Given the description of an element on the screen output the (x, y) to click on. 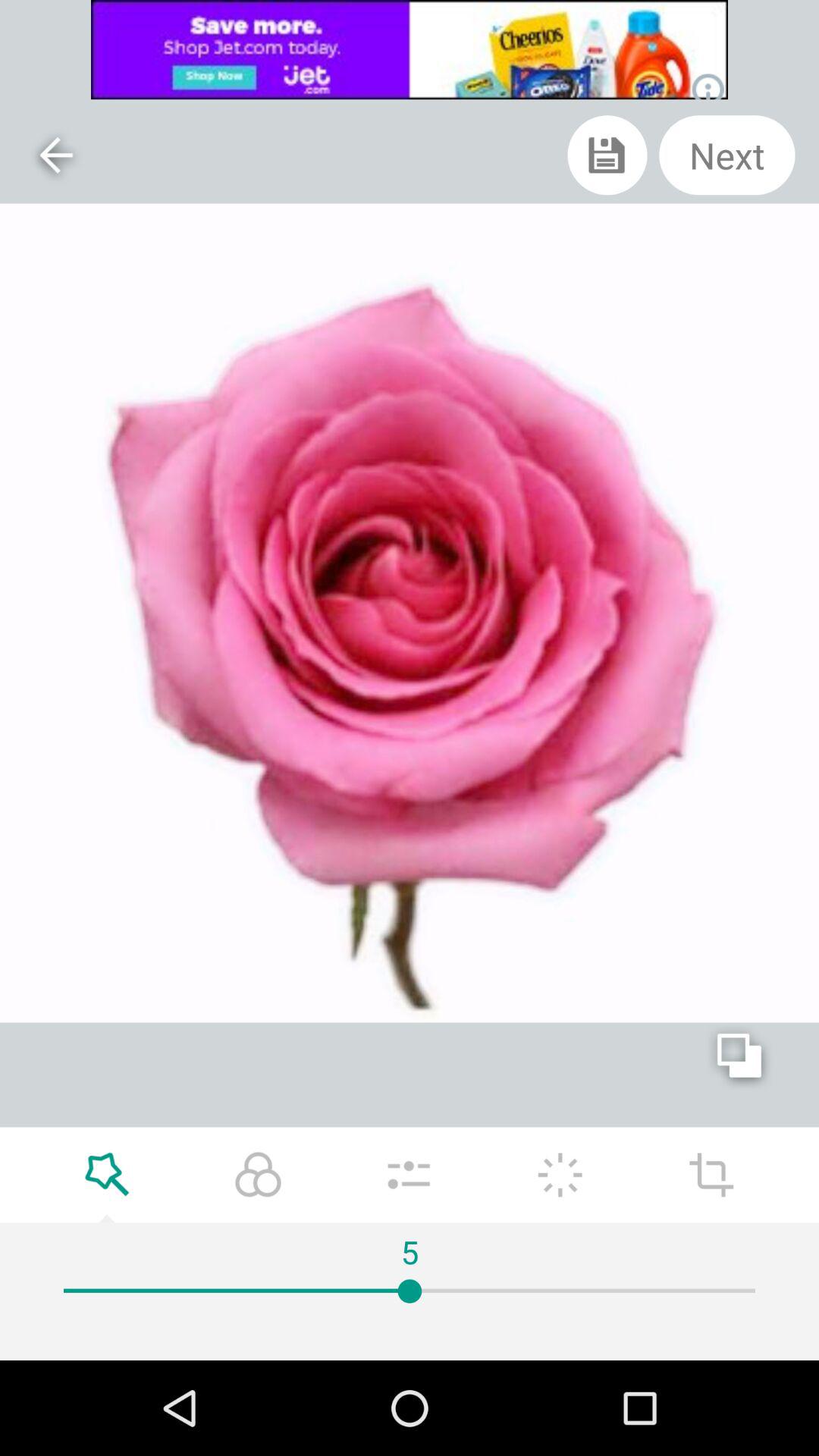
click on next shown at top right corner of the page (727, 155)
click on the third button from the bottom left corner of the page (408, 1174)
click on first button which is at bottom right corner of the page (711, 1174)
click on the first button of the page (56, 155)
icon left to next at the top right corner (607, 155)
